Given the description of an element on the screen output the (x, y) to click on. 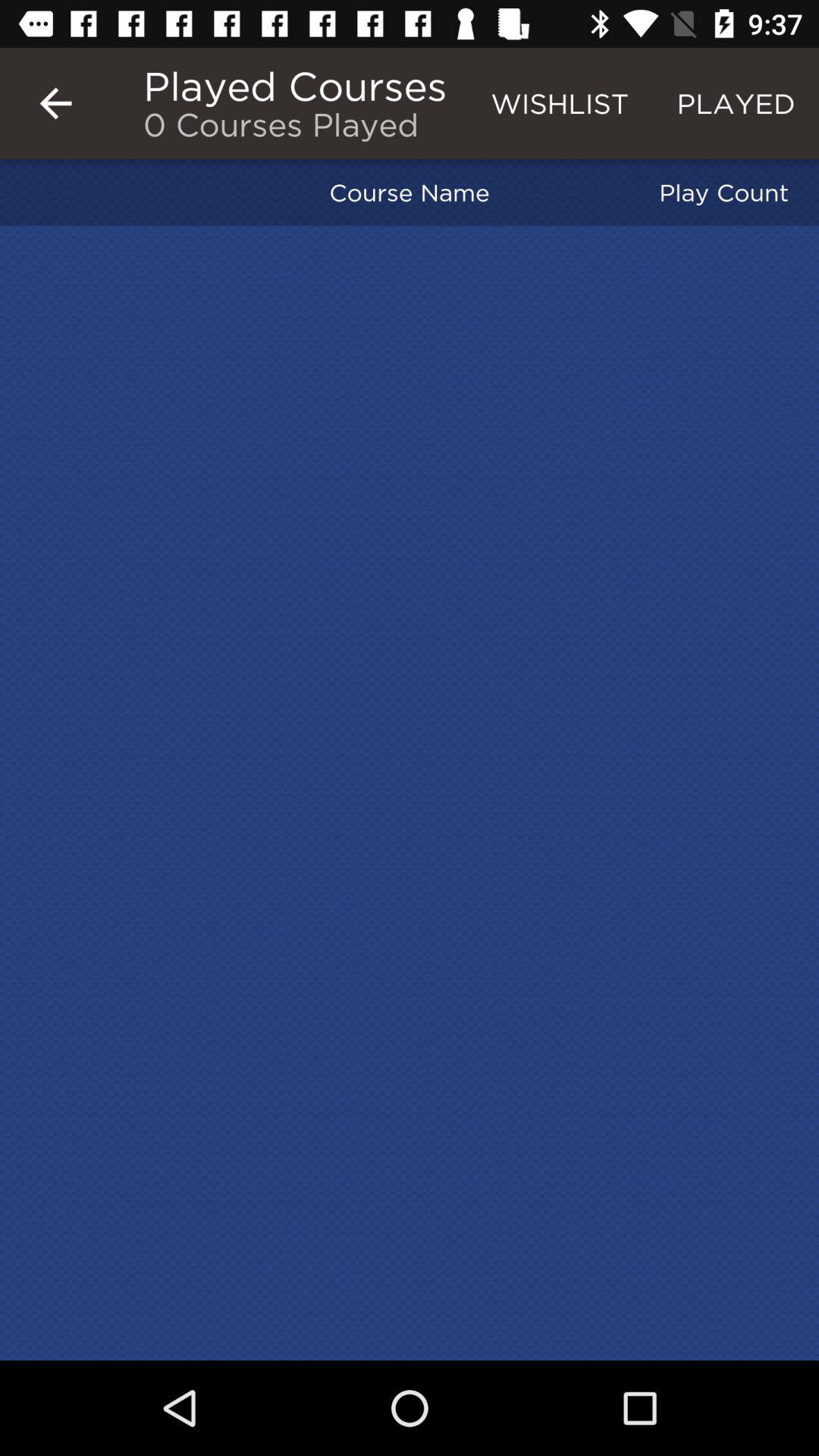
tap icon next to the played courses (55, 103)
